Given the description of an element on the screen output the (x, y) to click on. 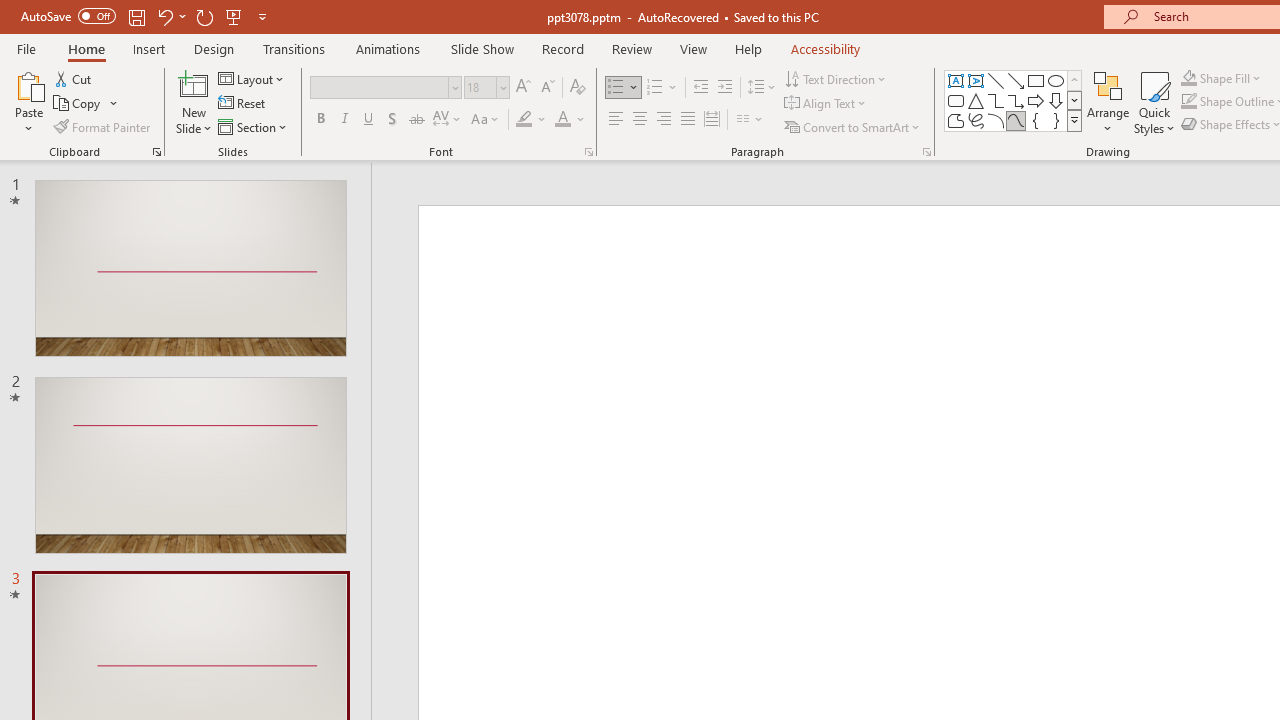
Copy (85, 103)
Line (995, 80)
Underline (369, 119)
Save (136, 15)
Numbering (661, 87)
Isosceles Triangle (975, 100)
Office Clipboard... (156, 151)
Italic (344, 119)
Row Down (1074, 100)
Connector: Elbow (995, 100)
Rectangle: Rounded Corners (955, 100)
Curve (1016, 120)
Right Brace (1055, 120)
Open (502, 87)
